Given the description of an element on the screen output the (x, y) to click on. 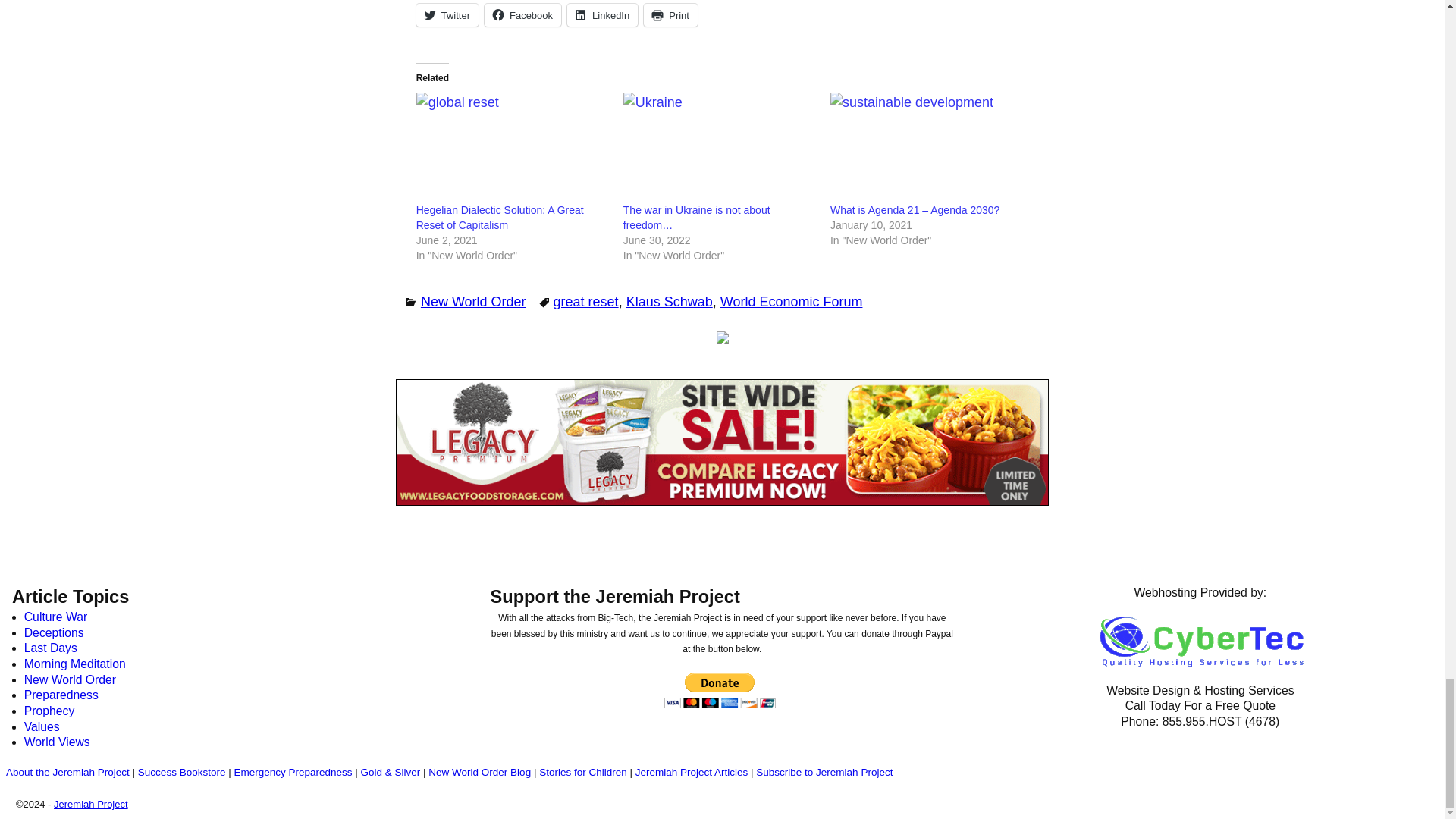
Jeremiah Project (90, 803)
Click to share on Facebook (522, 15)
Click to share on LinkedIn (602, 15)
Hegelian Dialectic Solution: A Great Reset of Capitalism (499, 216)
Click to share on Twitter (447, 15)
Twitter (447, 15)
Hegelian Dialectic Solution: A Great Reset of Capitalism (512, 147)
Print (670, 15)
LinkedIn (602, 15)
Click to print (670, 15)
